Given the description of an element on the screen output the (x, y) to click on. 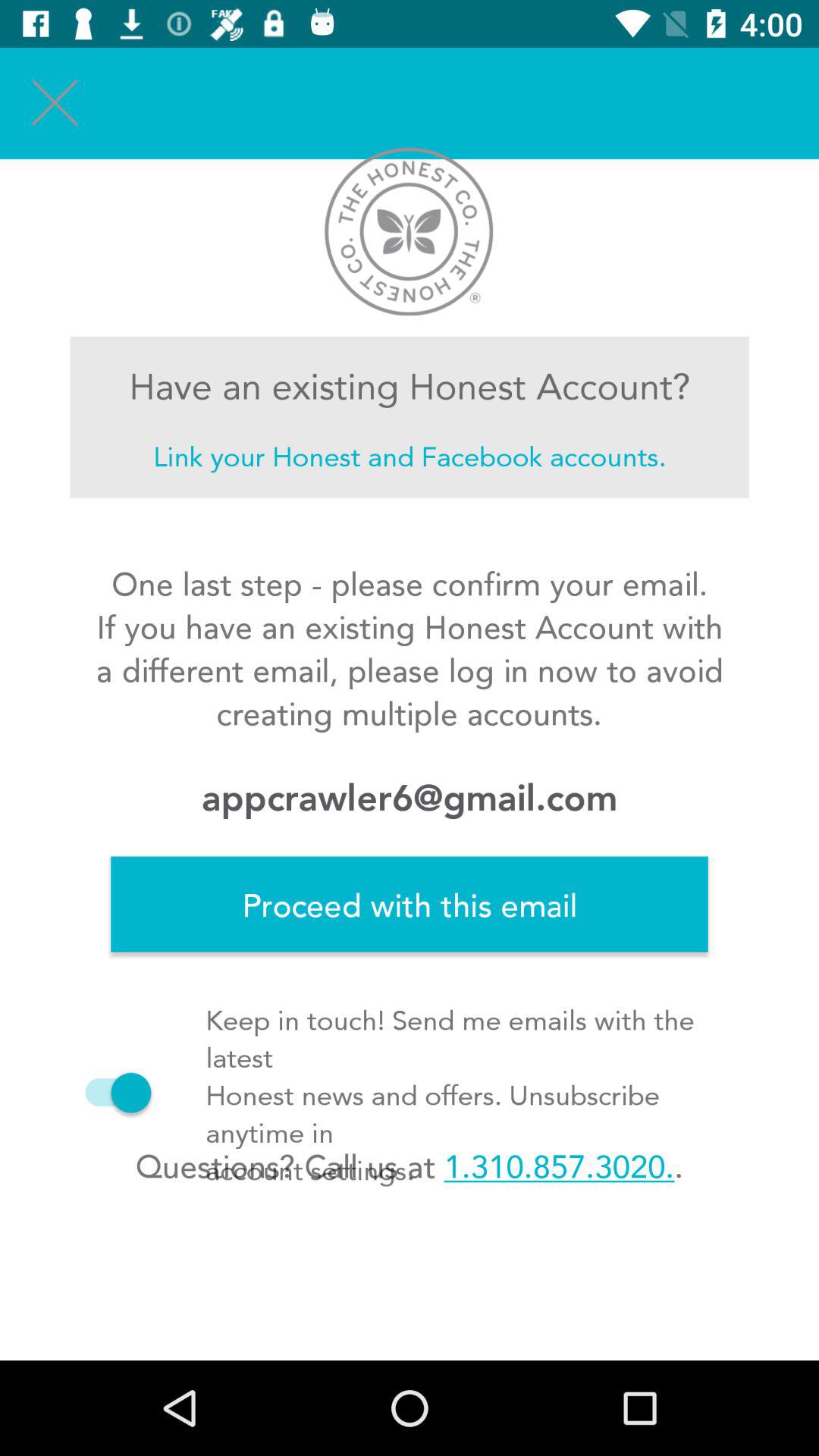
click the icon next to the keep in touch item (110, 1092)
